Given the description of an element on the screen output the (x, y) to click on. 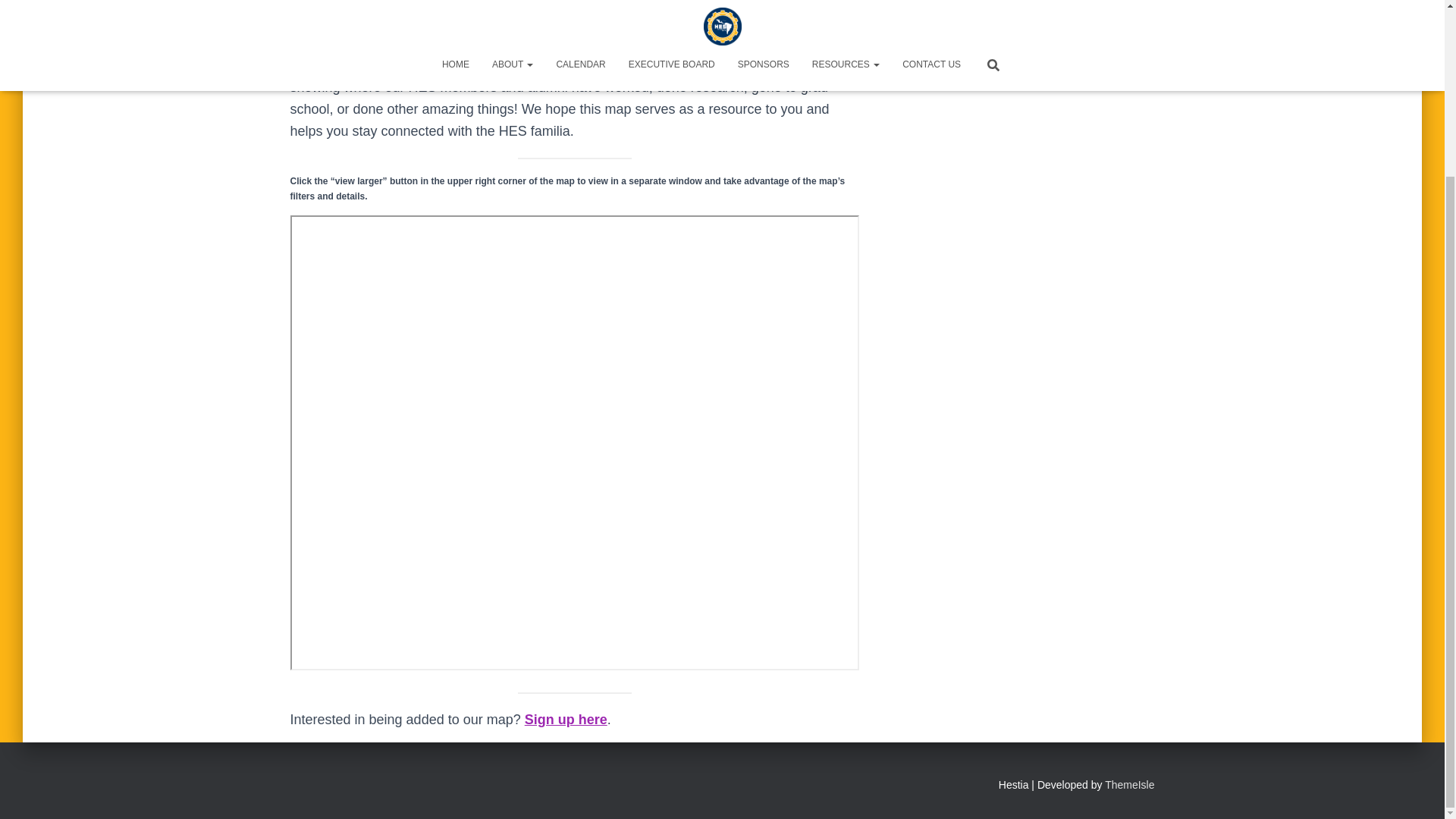
Sign up here (565, 719)
ThemeIsle (1129, 784)
